Given the description of an element on the screen output the (x, y) to click on. 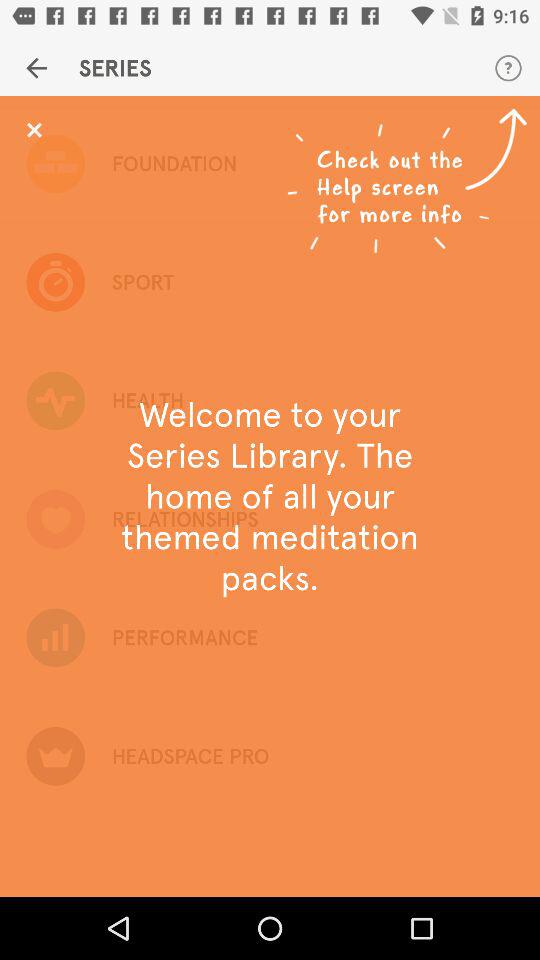
close message (33, 129)
